Given the description of an element on the screen output the (x, y) to click on. 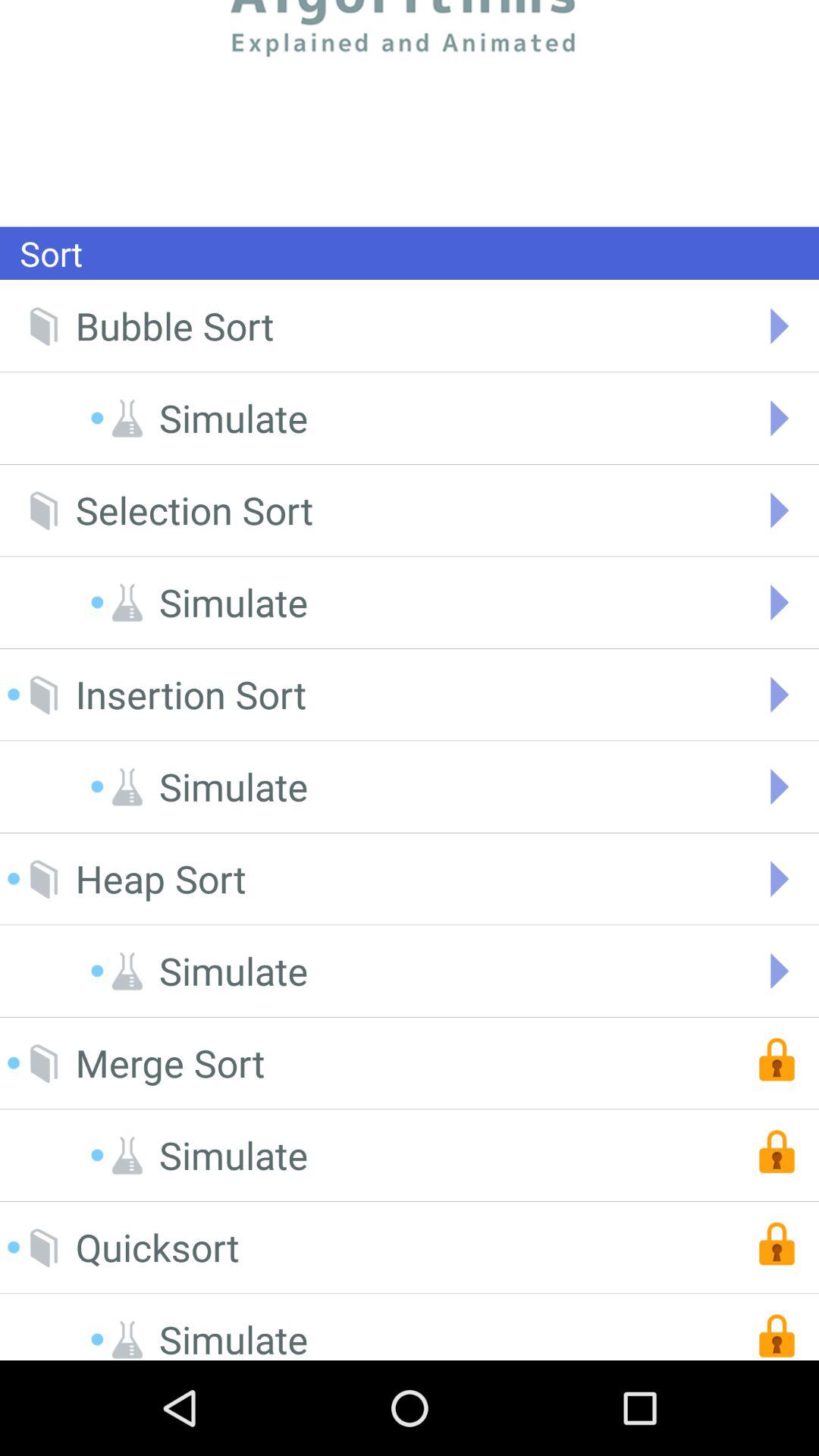
tap the item above the sort (409, 113)
